Given the description of an element on the screen output the (x, y) to click on. 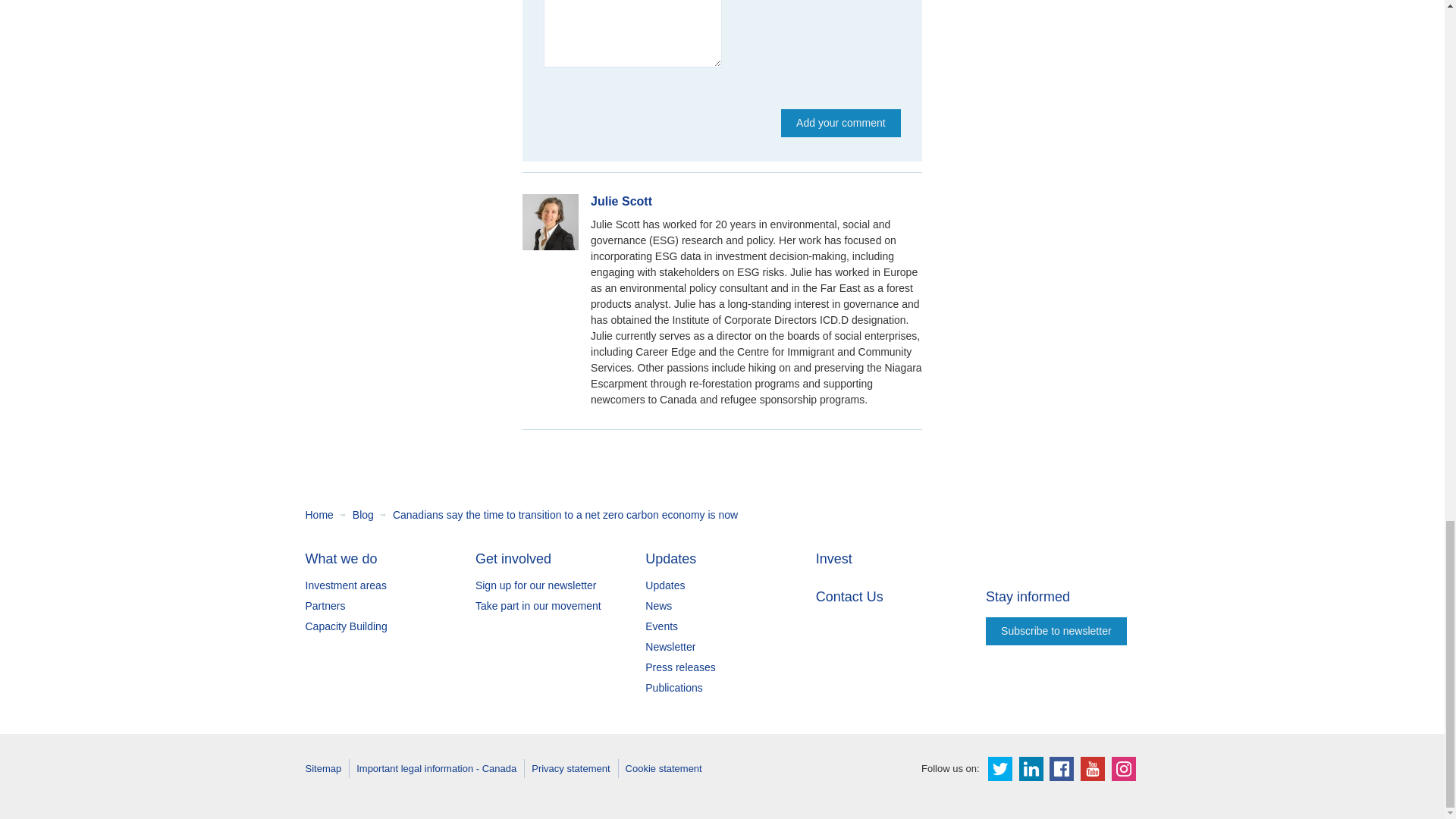
Twitter (999, 768)
YouTube (1092, 768)
LinkedIn (1031, 768)
Instagram (1123, 768)
Facebook (1061, 768)
